Given the description of an element on the screen output the (x, y) to click on. 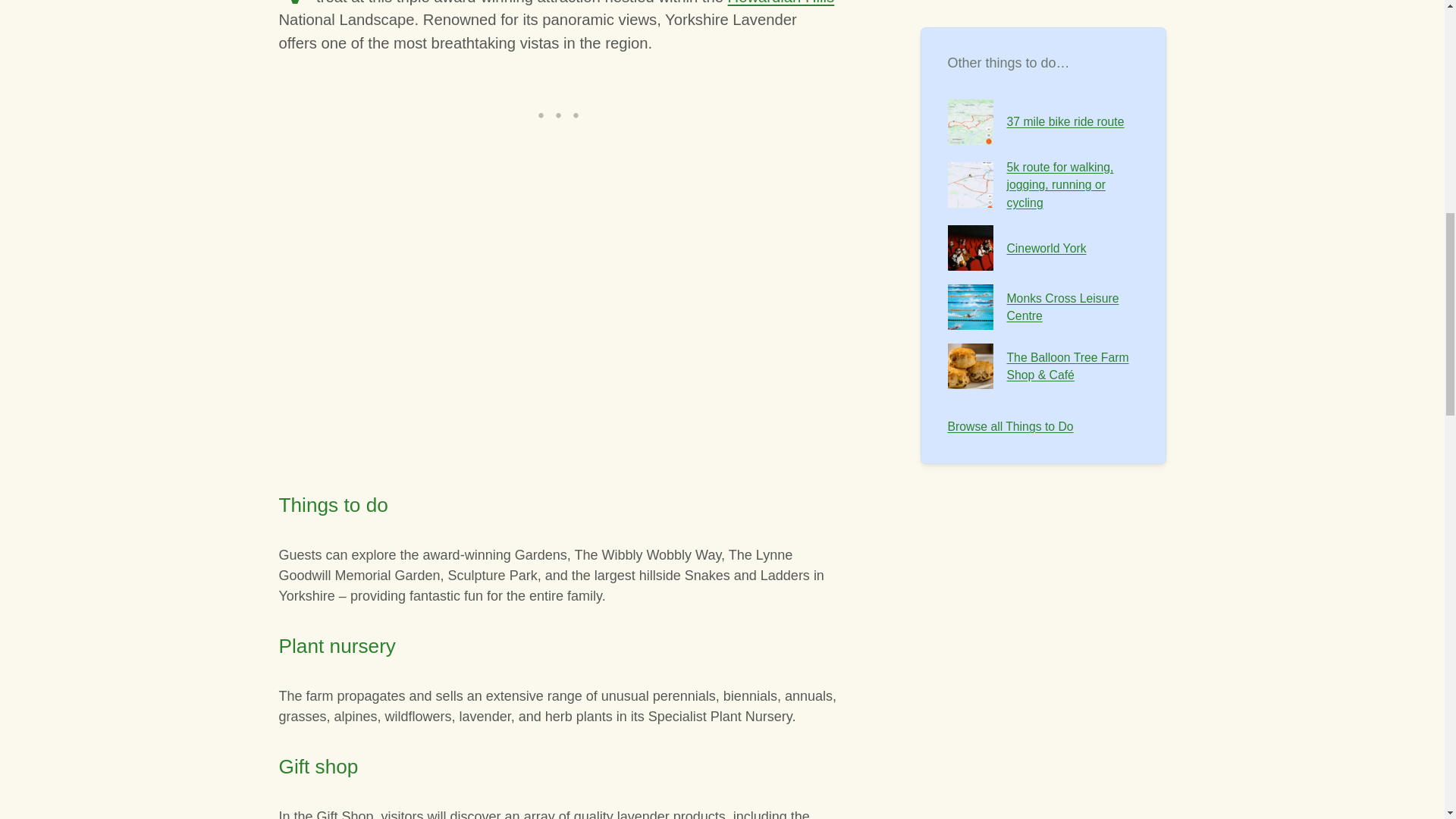
Howardian Hills (781, 2)
